Given the description of an element on the screen output the (x, y) to click on. 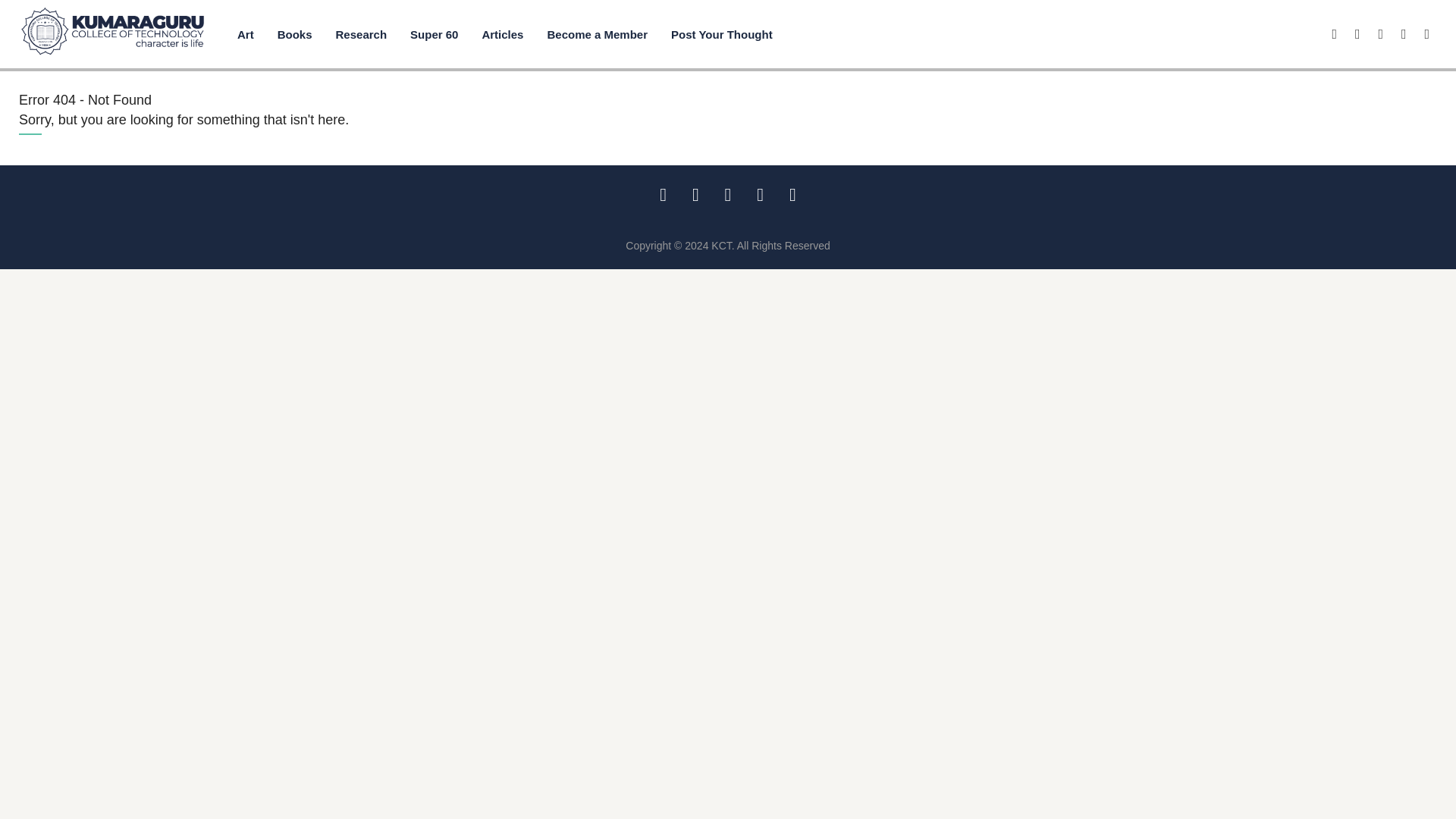
Books (294, 33)
Articles (502, 33)
Art (245, 33)
Become a Member (596, 33)
Research (361, 33)
Post Your Thought (721, 33)
Super 60 (434, 33)
